Given the description of an element on the screen output the (x, y) to click on. 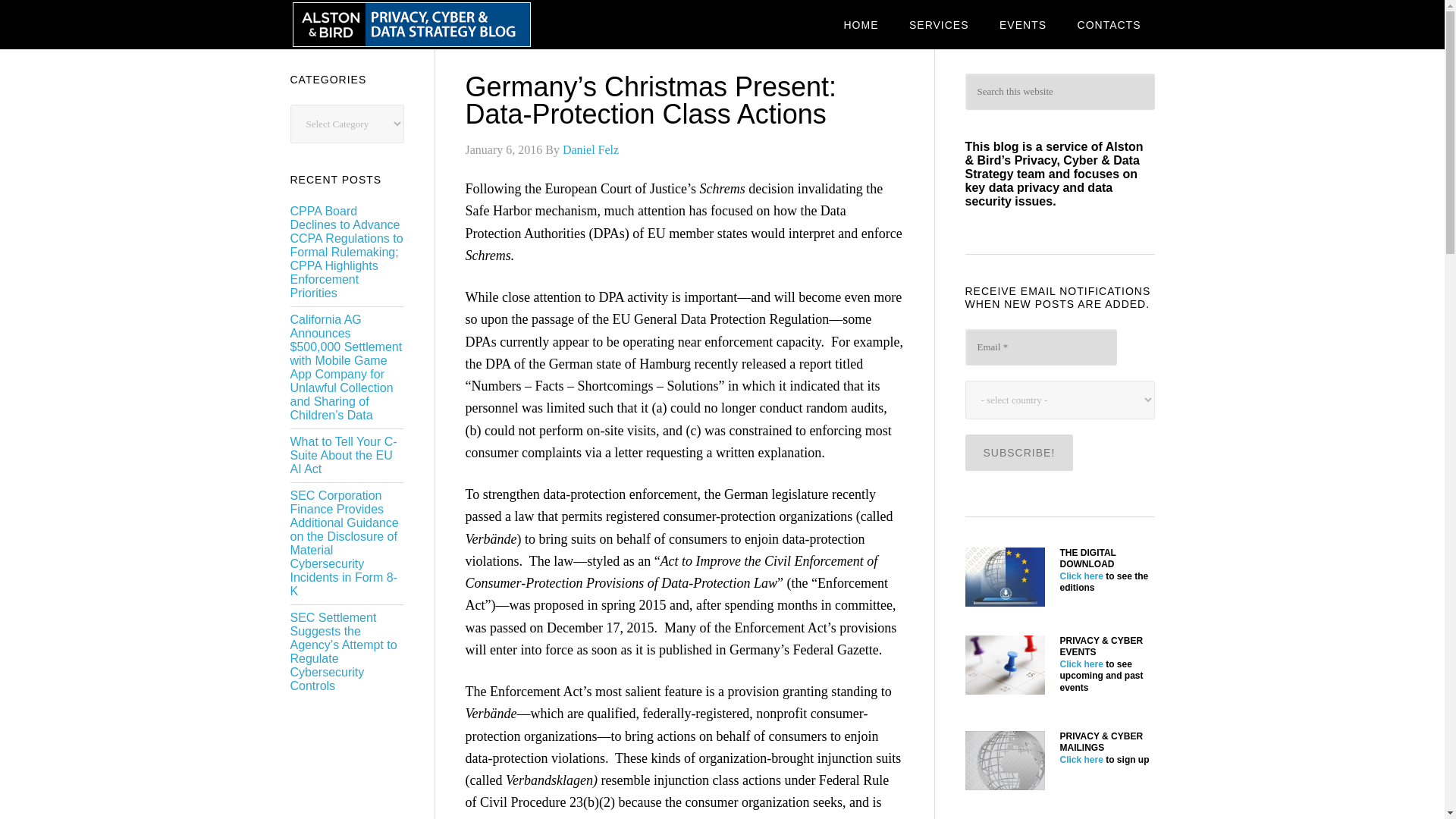
Click here (1081, 664)
Daniel Felz (590, 149)
Click here (1081, 575)
Posts by Daniel Felz (590, 149)
Click here (1081, 759)
Subscribe! (1018, 452)
Subscribe! (1018, 452)
SERVICES (938, 24)
HOME (860, 24)
What to Tell Your C-Suite About the EU AI Act (342, 454)
CONTACTS (1109, 24)
